Given the description of an element on the screen output the (x, y) to click on. 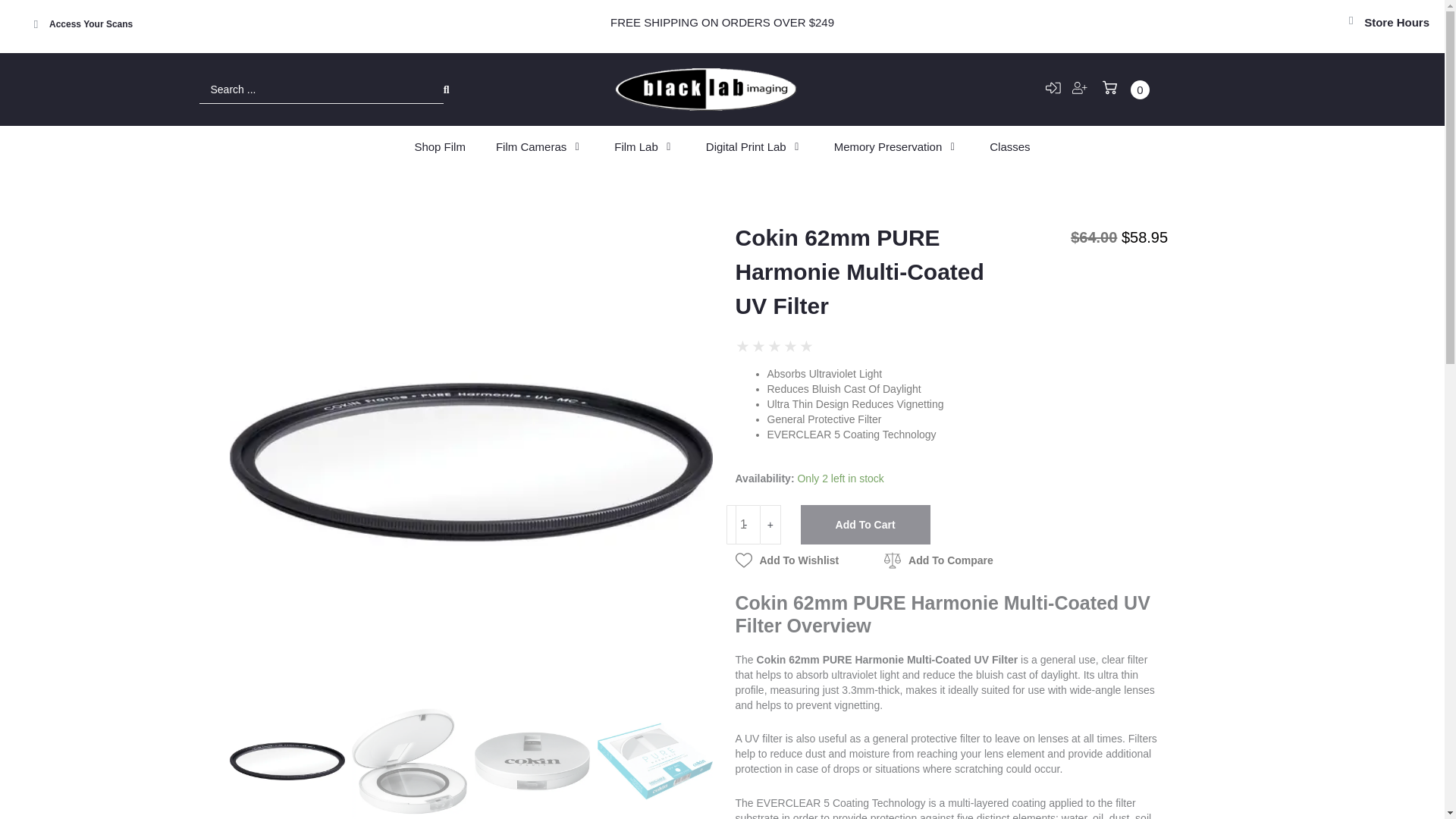
View your shopping cart (1126, 89)
Shop Film (439, 146)
Film Cameras (531, 146)
Access Your Scans (90, 23)
1 (743, 524)
Film Lab (636, 146)
0 (1126, 89)
